Given the description of an element on the screen output the (x, y) to click on. 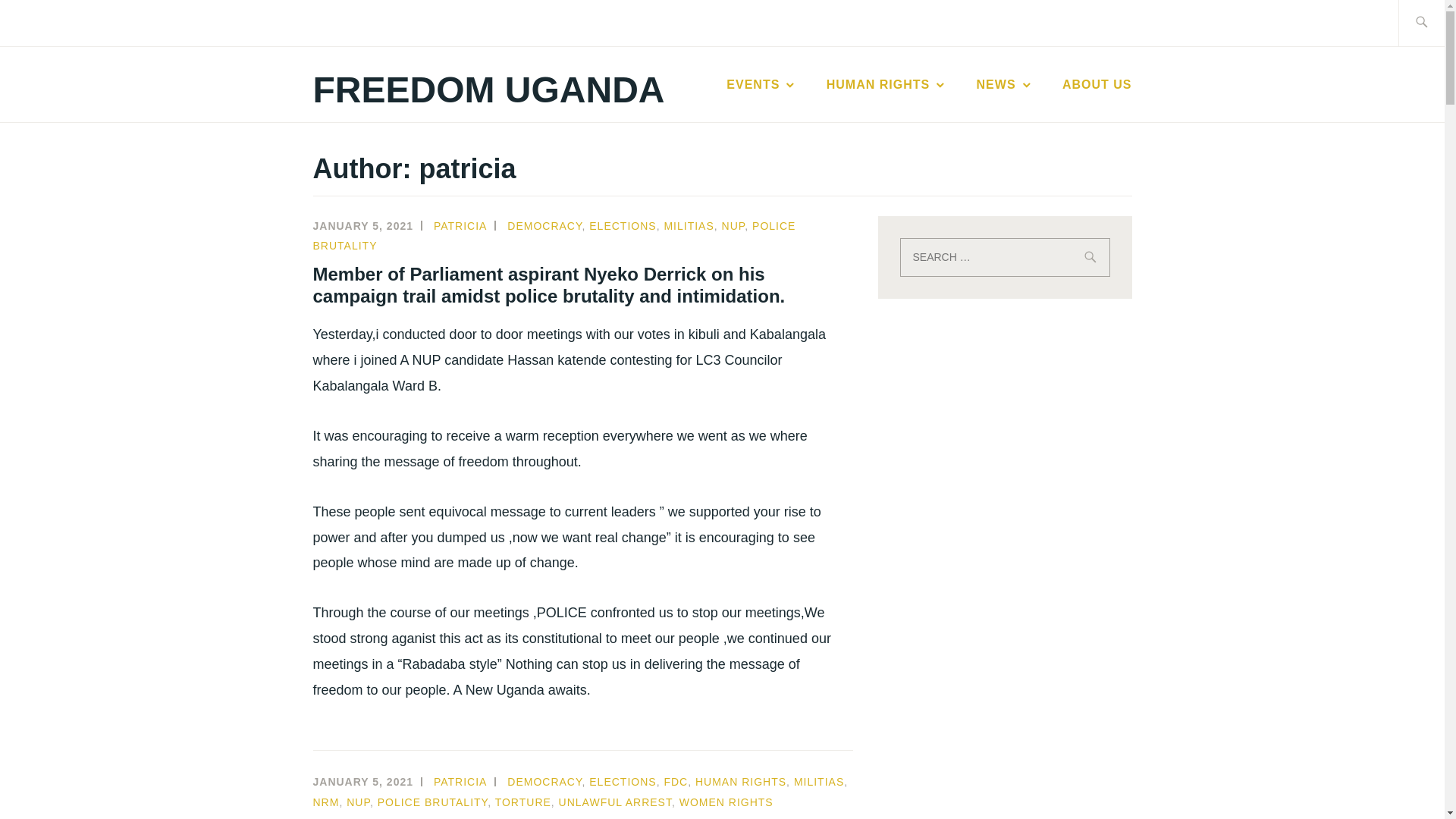
FREEDOM UGANDA (488, 89)
NUP (733, 225)
MILITIAS (818, 781)
NUP (357, 802)
PATRICIA (460, 781)
FDC (675, 781)
ABOUT US (1097, 84)
Search (47, 22)
HUMAN RIGHTS (887, 84)
ELECTIONS (622, 781)
HUMAN RIGHTS (740, 781)
NRM (326, 802)
Search for: (1004, 257)
EVENTS (761, 84)
